Given the description of an element on the screen output the (x, y) to click on. 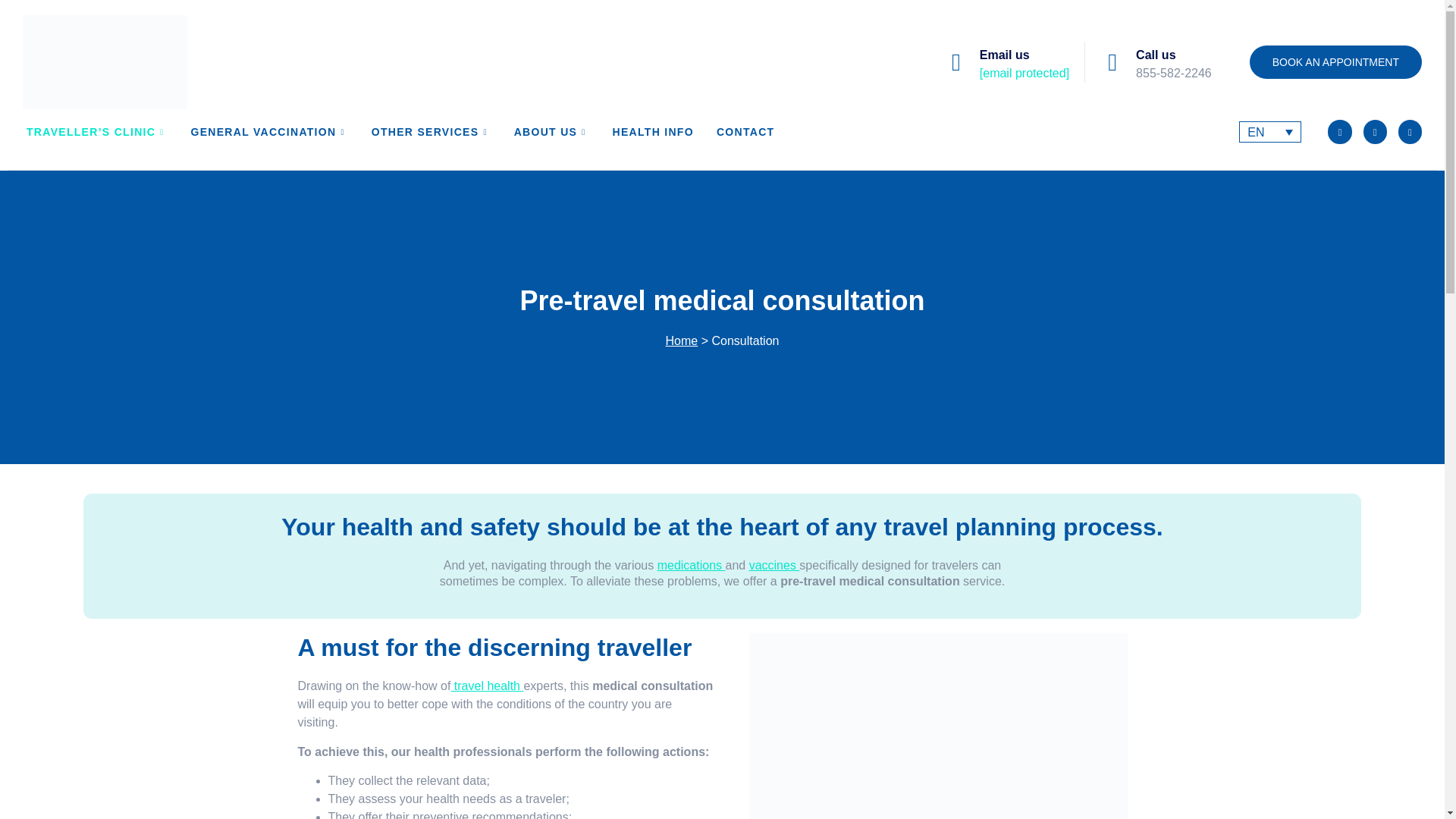
CONTACT (756, 131)
Call us (1154, 54)
GENERAL VACCINATION (280, 131)
OTHER SERVICES (442, 131)
BOOK AN APPOINTMENT (1335, 61)
EN (1270, 132)
ABOUT US (562, 131)
HEALTH INFO (664, 131)
